Given the description of an element on the screen output the (x, y) to click on. 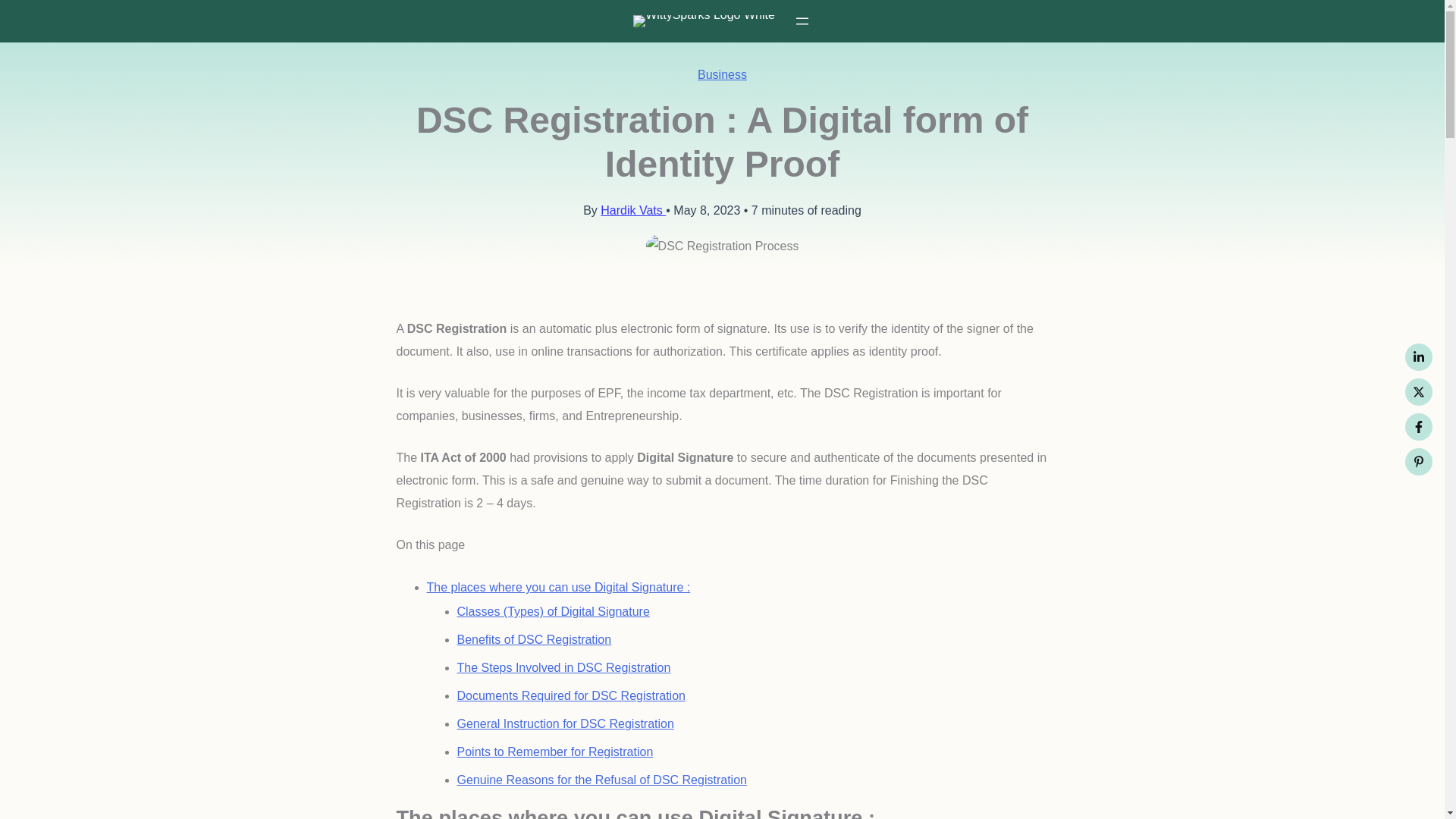
Genuine Reasons for the Refusal of DSC Registration (601, 779)
DSC Registration : A Digital form of Identity Proof 2 (722, 246)
The places where you can use Digital Signature : (558, 586)
Benefits of DSC Registration (534, 639)
View all posts by Hardik Vats (632, 210)
Points to Remember for Registration (554, 751)
Hardik Vats (632, 210)
The Steps Involved in DSC Registration (563, 667)
Documents Required for DSC Registration (570, 695)
General Instruction for DSC Registration (564, 723)
